Given the description of an element on the screen output the (x, y) to click on. 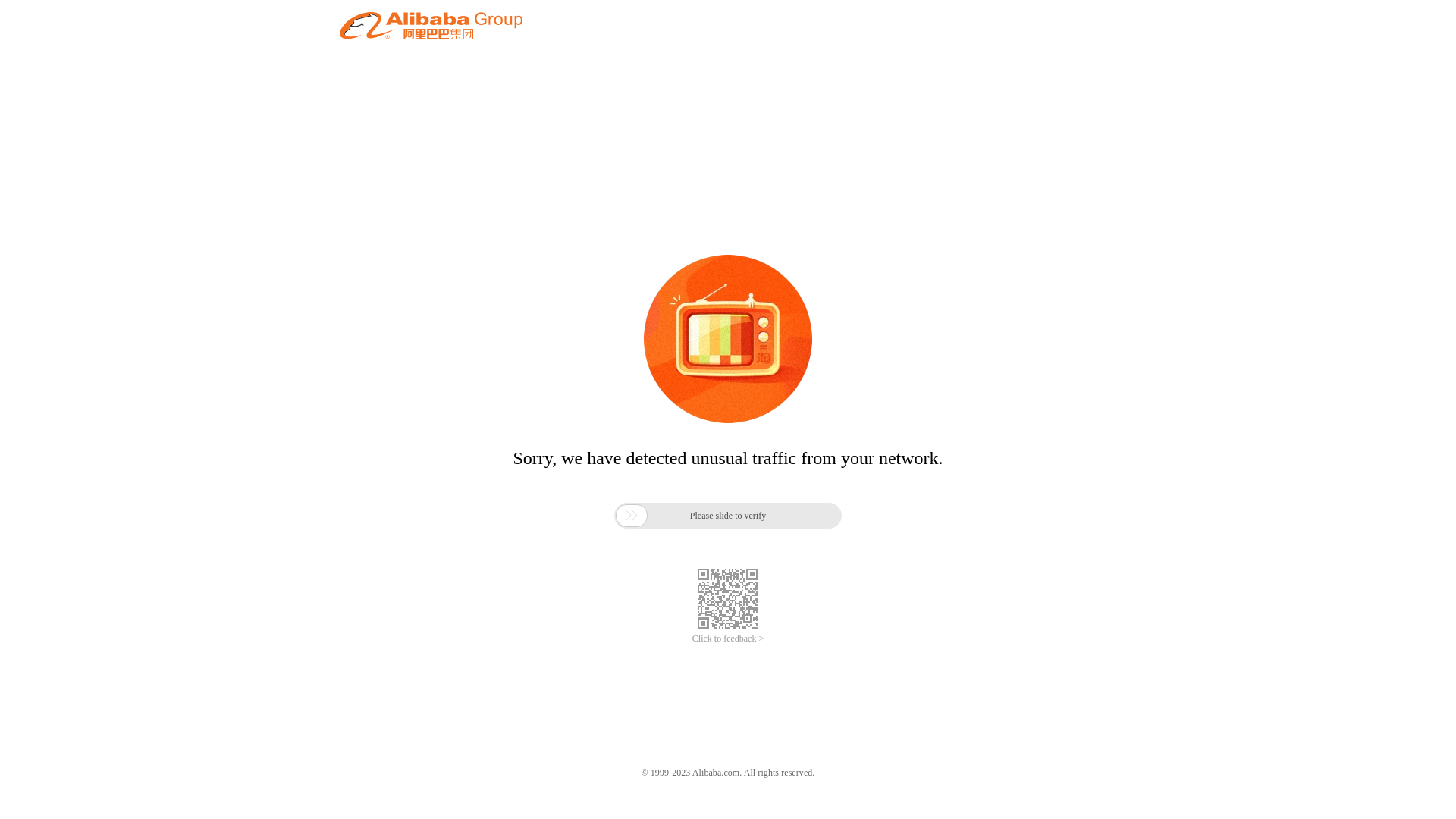
Click to feedback > Element type: text (727, 638)
